Given the description of an element on the screen output the (x, y) to click on. 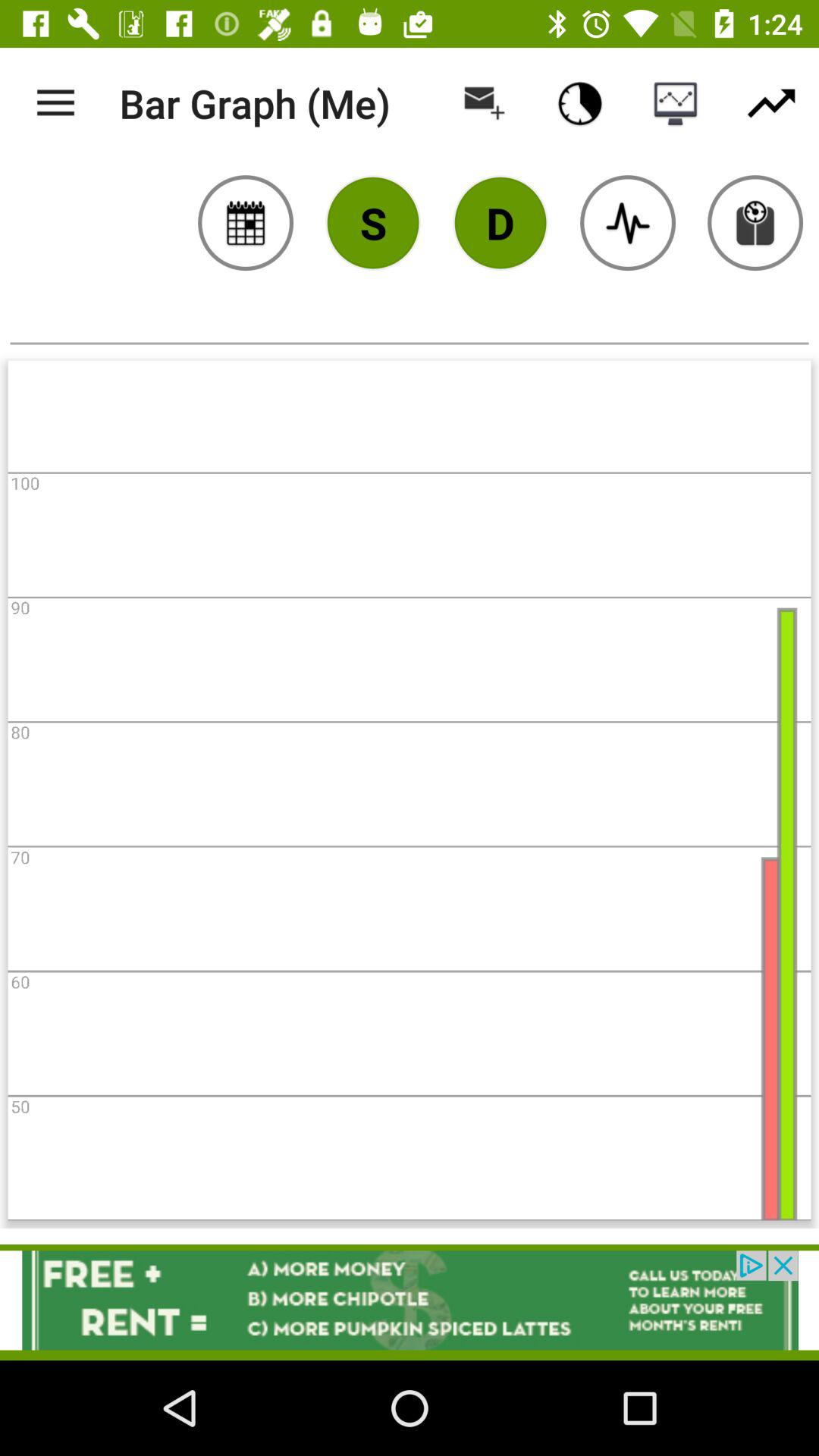
open an advertisements (409, 1300)
